Given the description of an element on the screen output the (x, y) to click on. 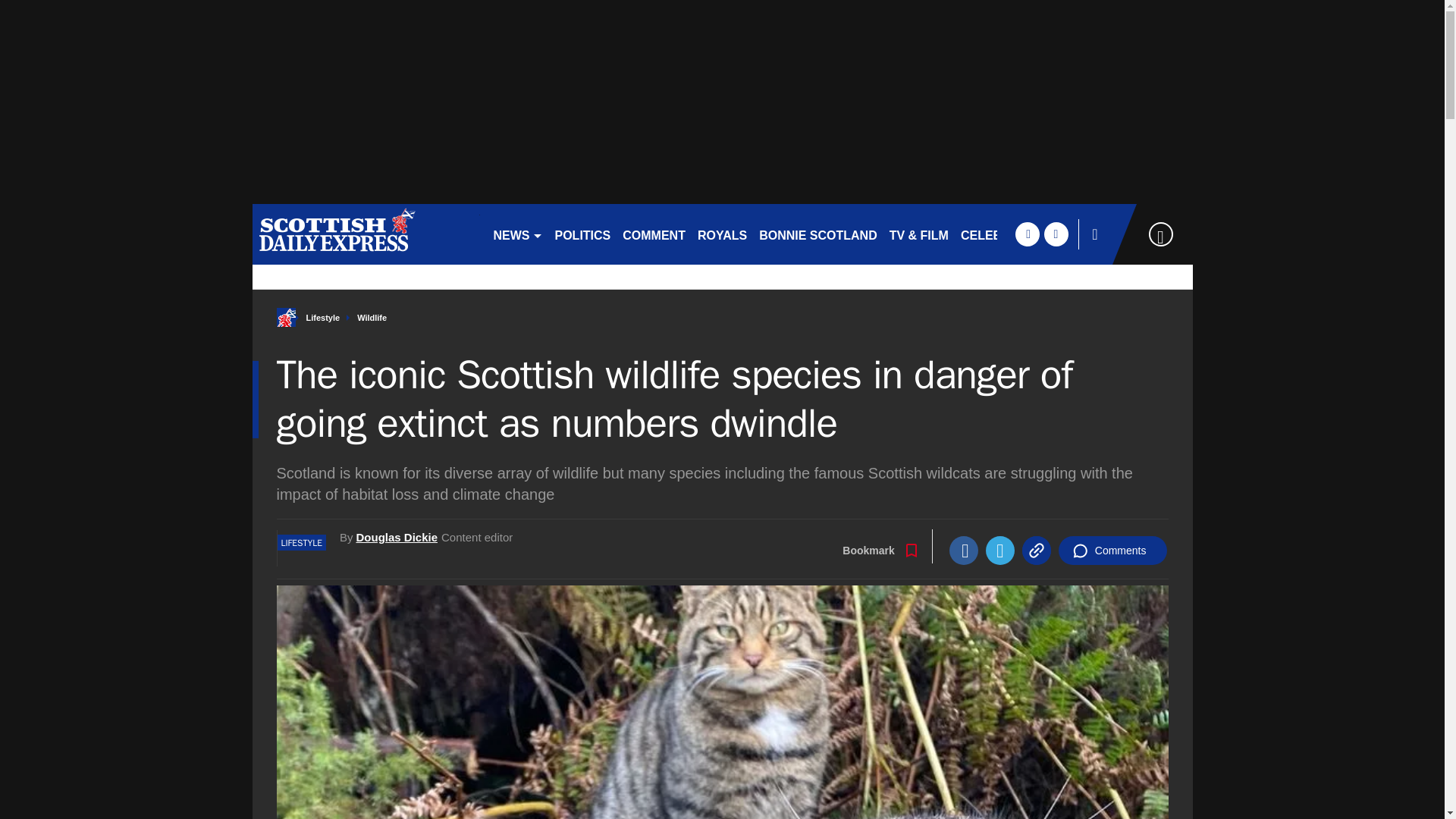
BONNIE SCOTLAND (817, 233)
NEWS (517, 233)
CELEBS (985, 233)
Comments (1112, 550)
Facebook (963, 550)
facebook (1026, 233)
Twitter (999, 550)
POLITICS (582, 233)
COMMENT (653, 233)
twitter (1055, 233)
ROYALS (721, 233)
scottishdailyexpress (365, 233)
